Given the description of an element on the screen output the (x, y) to click on. 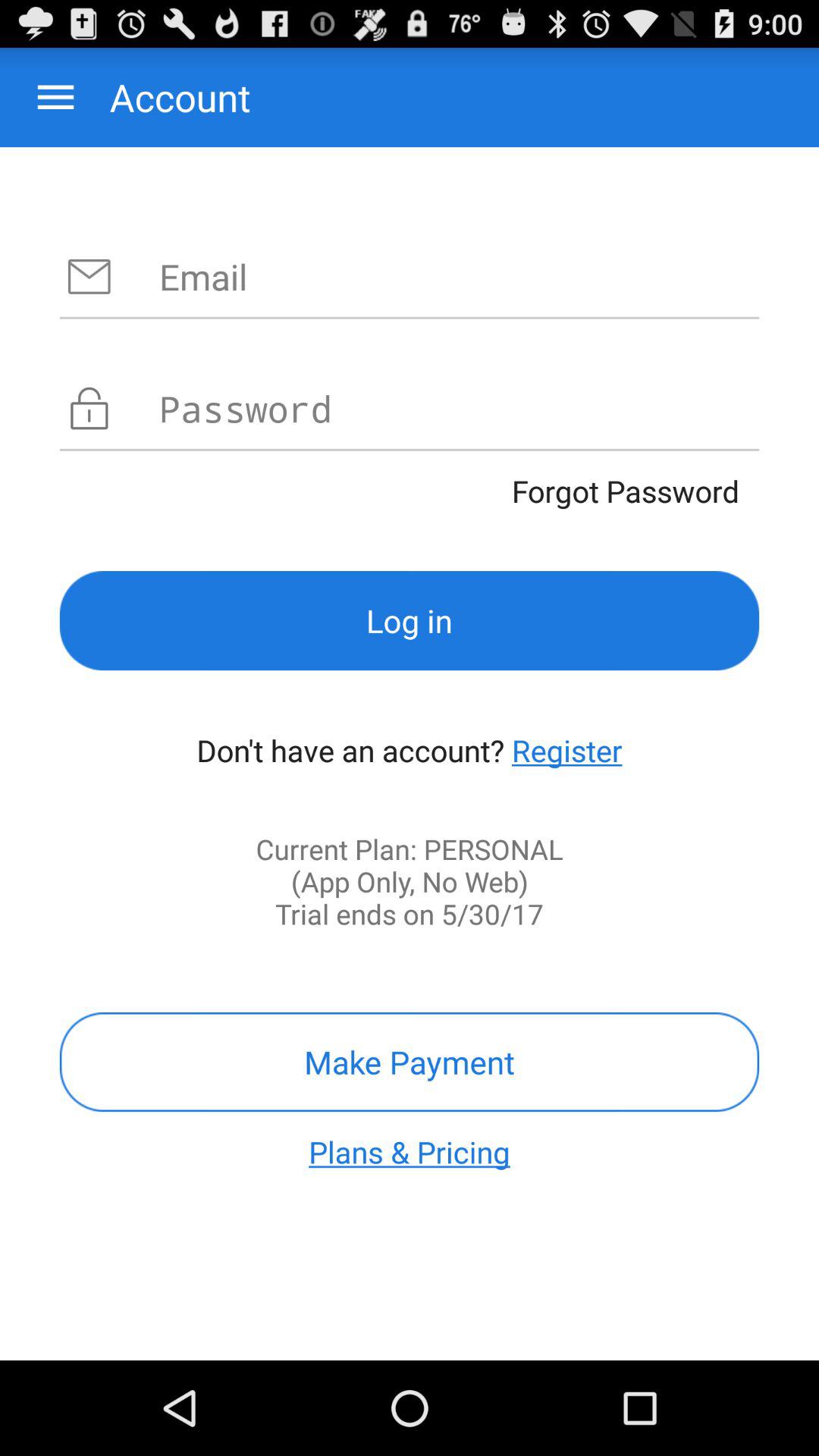
scroll until the forgot password (409, 490)
